Given the description of an element on the screen output the (x, y) to click on. 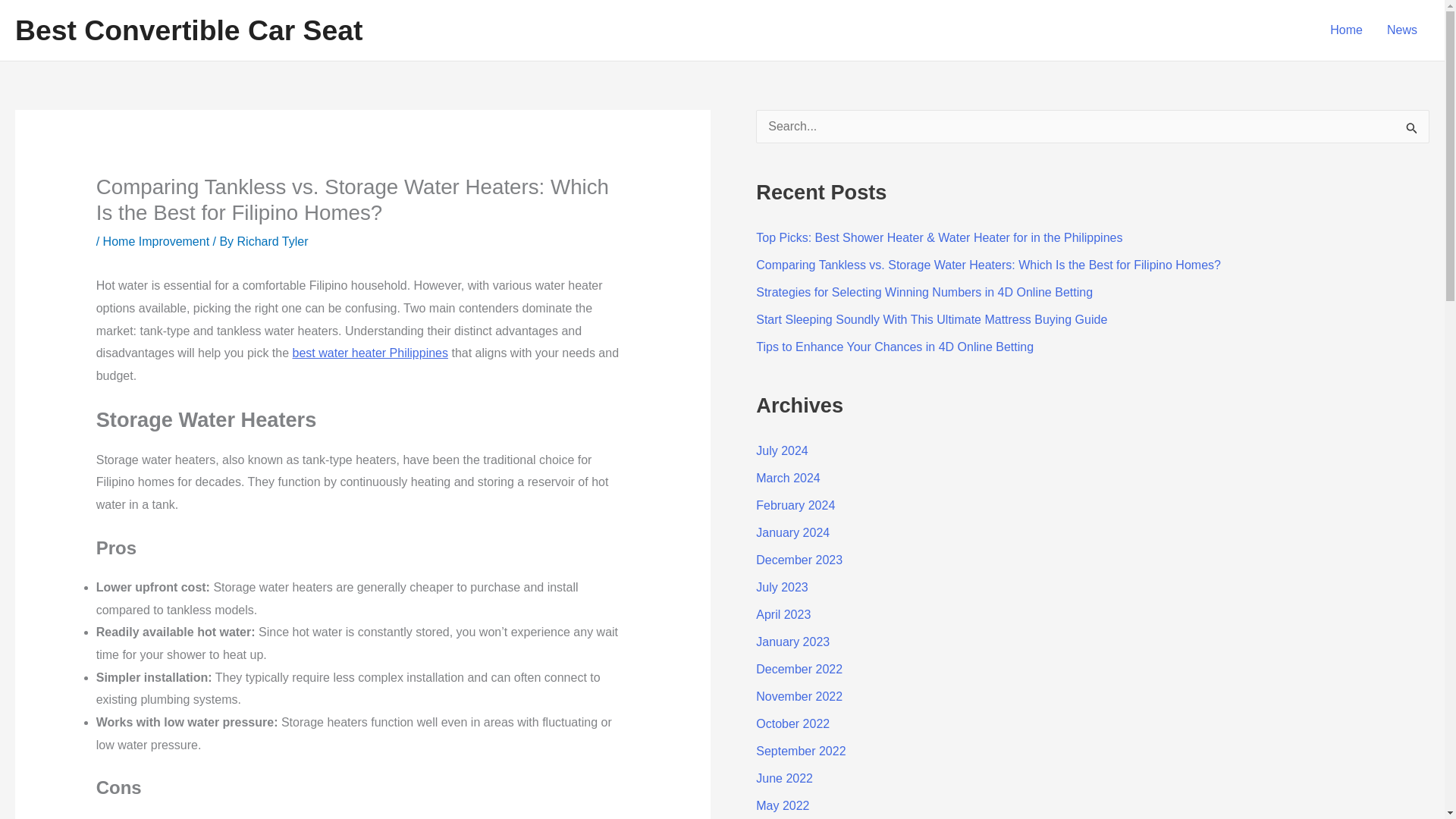
April 2023 (782, 614)
June 2022 (783, 778)
Home Improvement (156, 241)
May 2022 (782, 805)
November 2022 (799, 696)
March 2024 (788, 477)
Tips to Enhance Your Chances in 4D Online Betting (894, 346)
Home (1345, 30)
best water heater Philippines (370, 352)
